Given the description of an element on the screen output the (x, y) to click on. 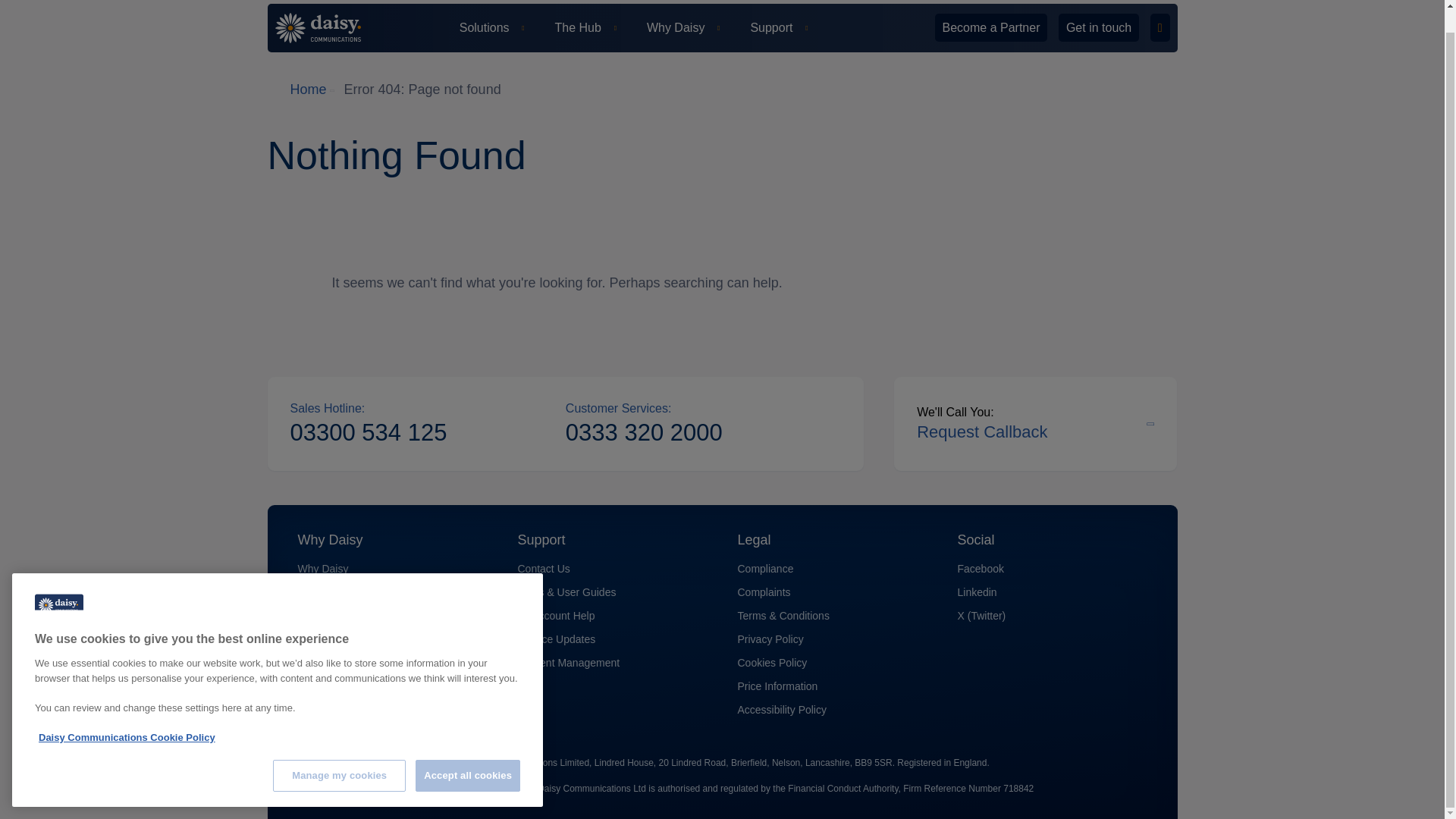
Back to Homepage (328, 28)
Customer reviews powered by Trustpilot (1050, 89)
Solutions (491, 27)
Company Logo (58, 581)
Linkedin (975, 592)
The Hub (585, 27)
Facebook (979, 569)
